Given the description of an element on the screen output the (x, y) to click on. 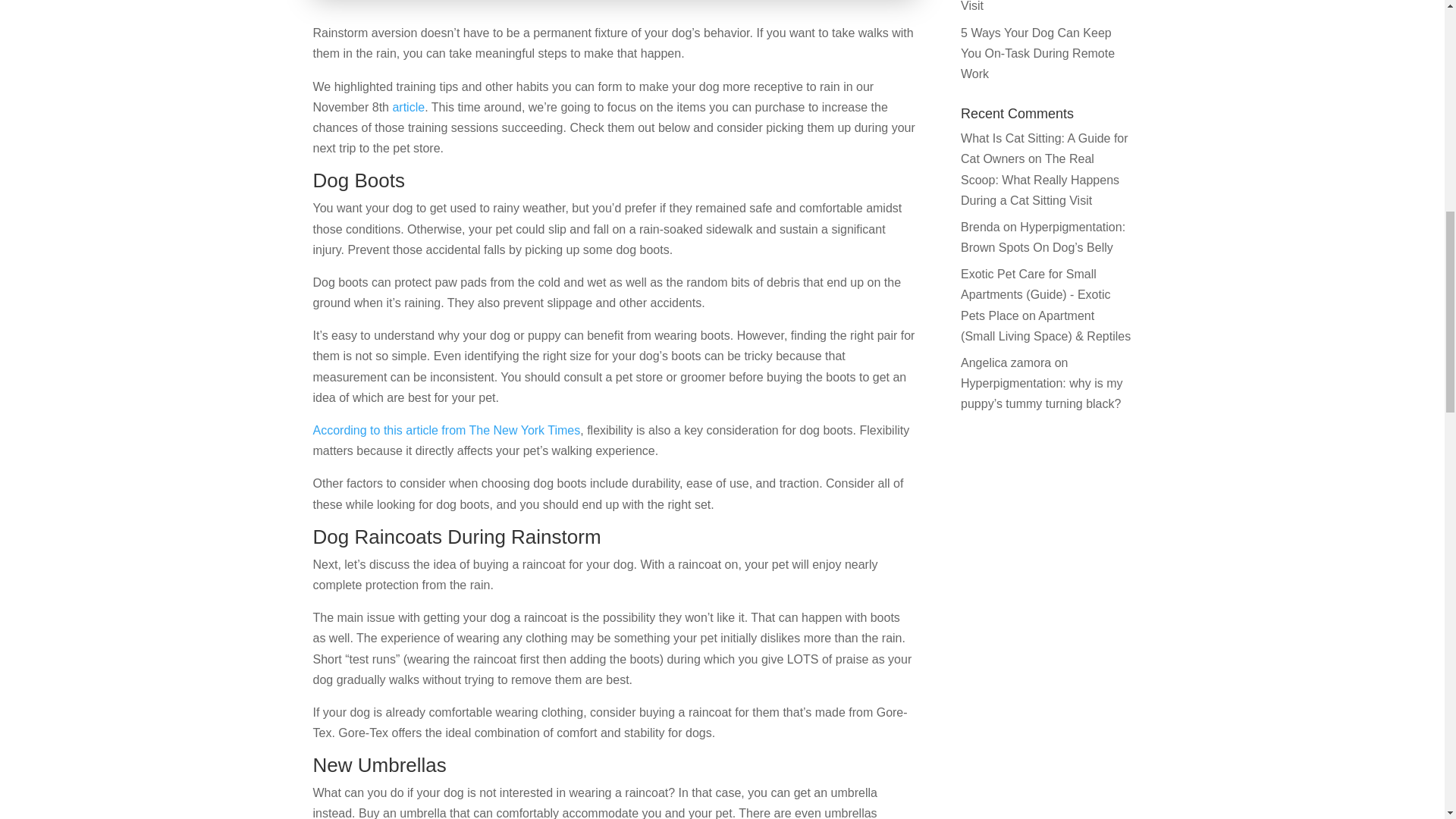
5 Ways Your Dog Can Keep You On-Task During Remote Work (1037, 53)
According to this article from The New York Times (446, 430)
What Is Cat Sitting: A Guide for Cat Owners (1044, 148)
article (408, 106)
